Given the description of an element on the screen output the (x, y) to click on. 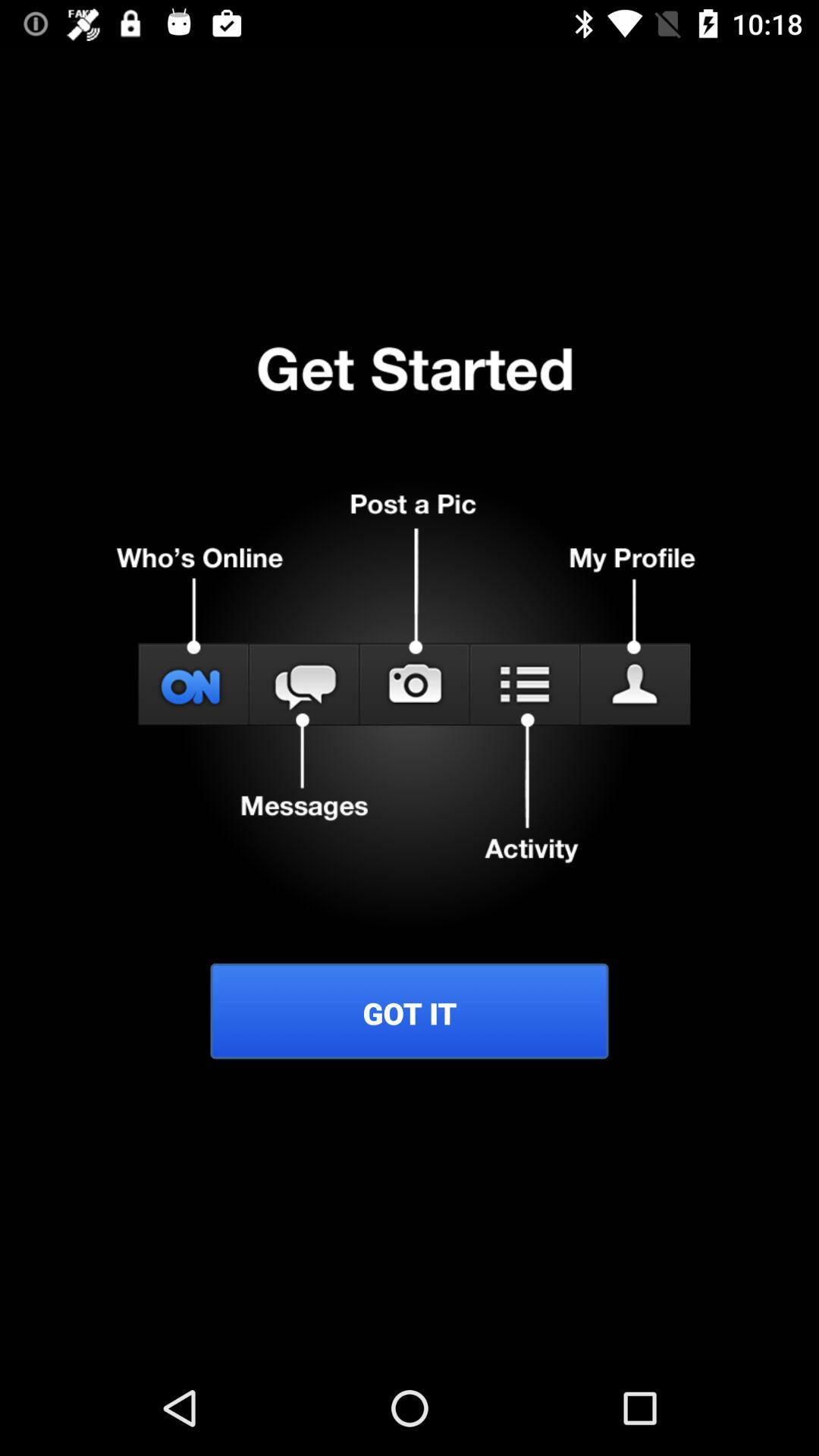
choose got it item (409, 1012)
